Given the description of an element on the screen output the (x, y) to click on. 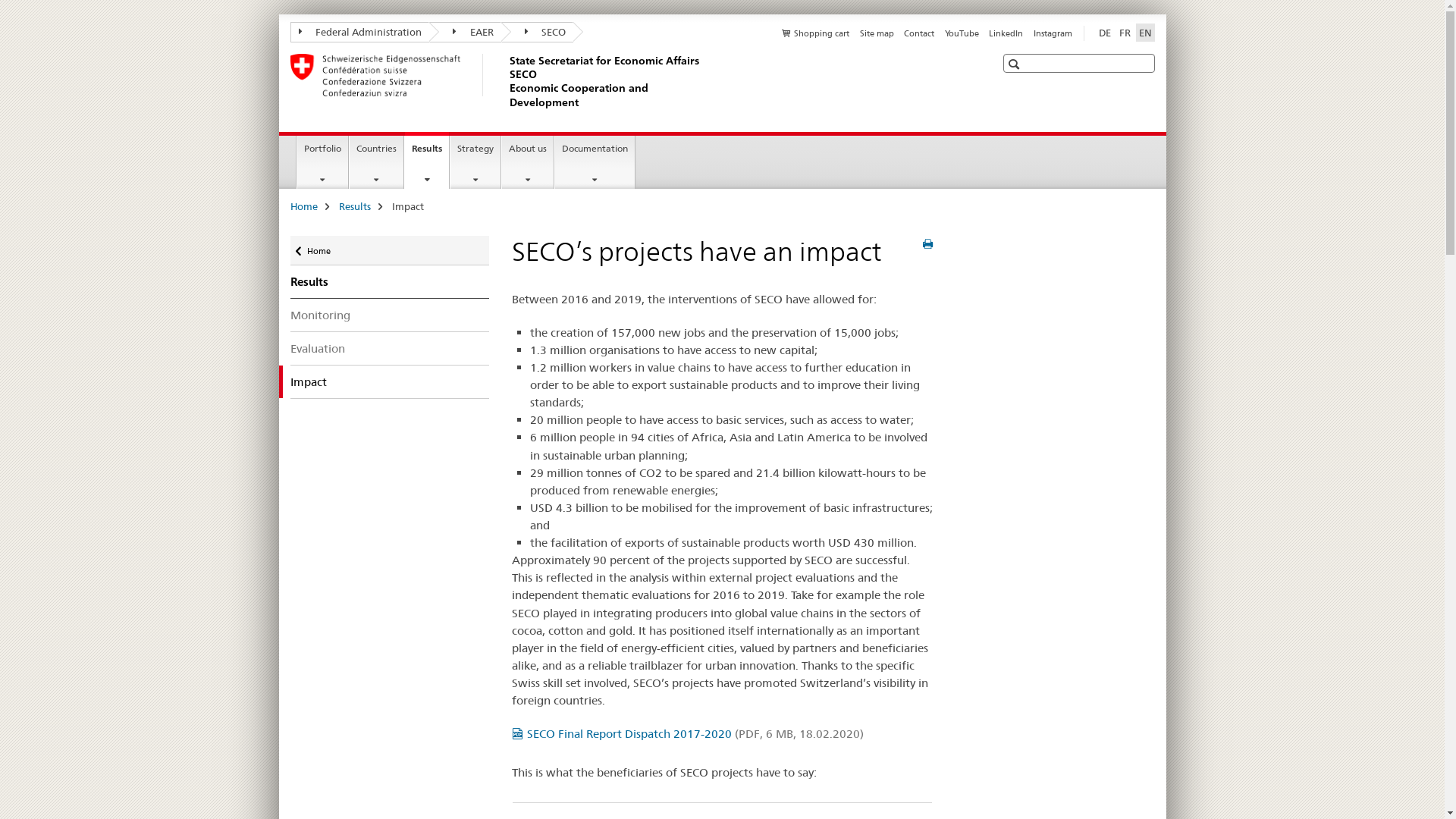
Home Element type: text (302, 206)
Portfolio Element type: text (322, 161)
Contact Element type: text (918, 33)
About us Element type: text (527, 161)
SECO Final Report Dispatch 2017-2020 (PDF, 6 MB, 18.02.2020) Element type: text (687, 733)
Instagram Element type: text (1051, 33)
DE Element type: text (1104, 32)
Strategy Element type: text (475, 161)
FR Element type: text (1124, 32)
EN Element type: text (1144, 32)
SECO Element type: text (536, 31)
Print this page Element type: hover (927, 243)
Countries Element type: text (376, 161)
Monitoring Element type: text (389, 314)
Results Element type: text (354, 206)
Site map Element type: text (876, 33)
Evaluation Element type: text (389, 348)
Federal Administration Element type: text (359, 31)
YouTube Element type: text (961, 33)
Shopping cart Element type: text (815, 33)
LinkedIn Element type: text (1005, 33)
Results
current page Element type: text (426, 159)
Back to
Home Element type: text (389, 250)
Results Element type: text (389, 281)
Documentation Element type: text (594, 161)
EAER Element type: text (465, 31)
